Given the description of an element on the screen output the (x, y) to click on. 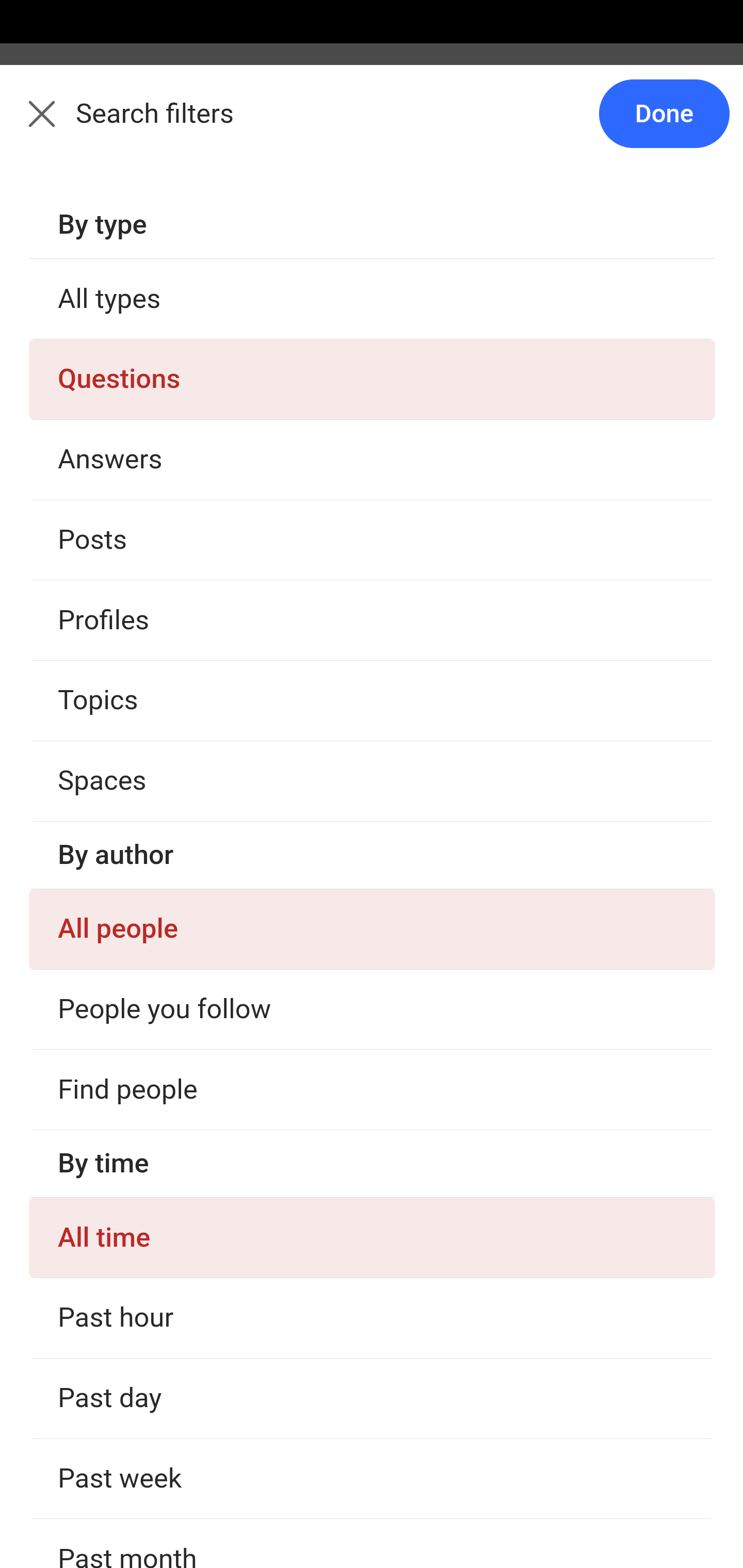
Back Search (371, 125)
Answer (125, 387)
Answer (125, 784)
Answer (125, 1179)
Answer (125, 1378)
